Given the description of an element on the screen output the (x, y) to click on. 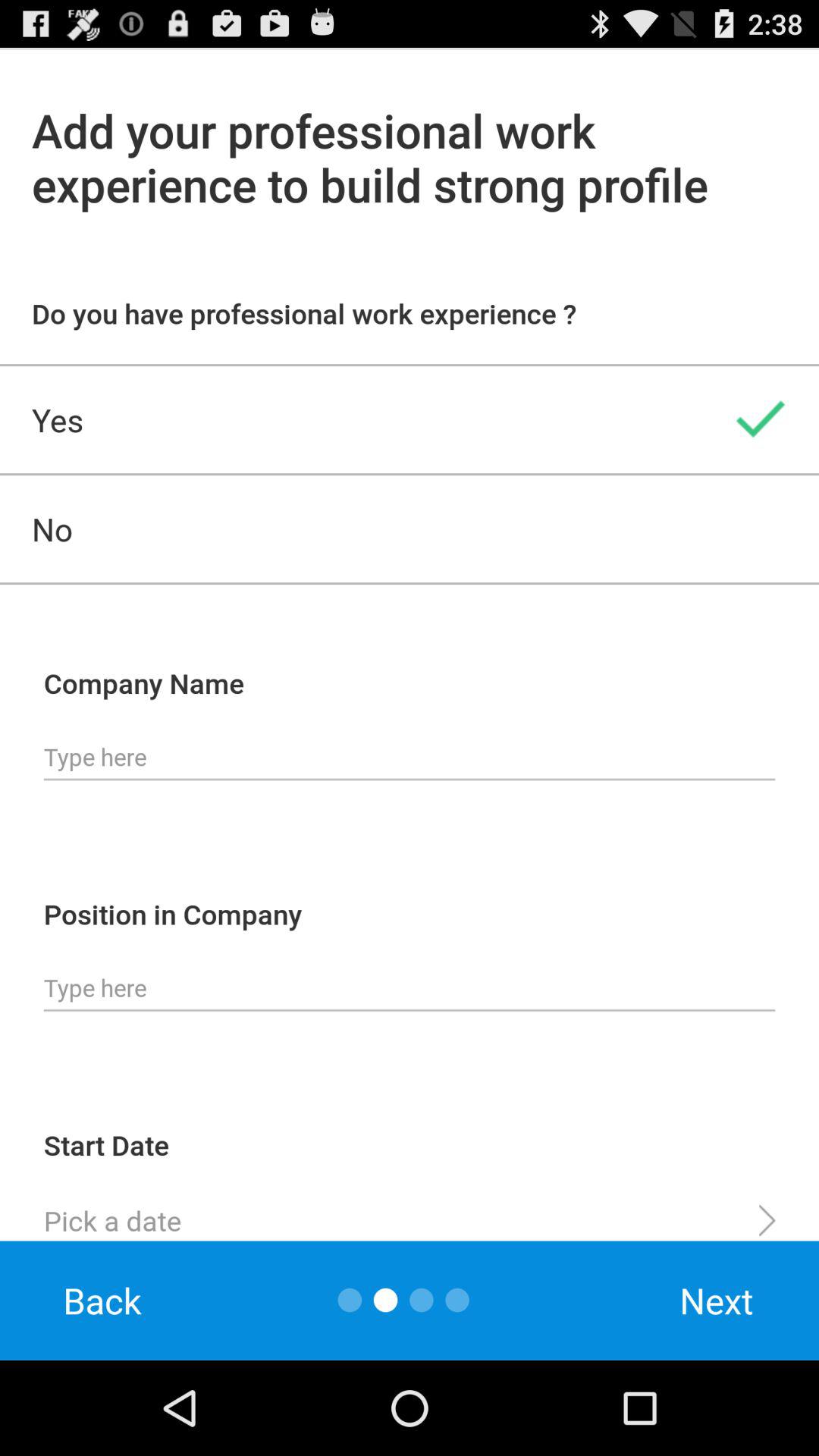
turn off the icon below start date (409, 1214)
